Given the description of an element on the screen output the (x, y) to click on. 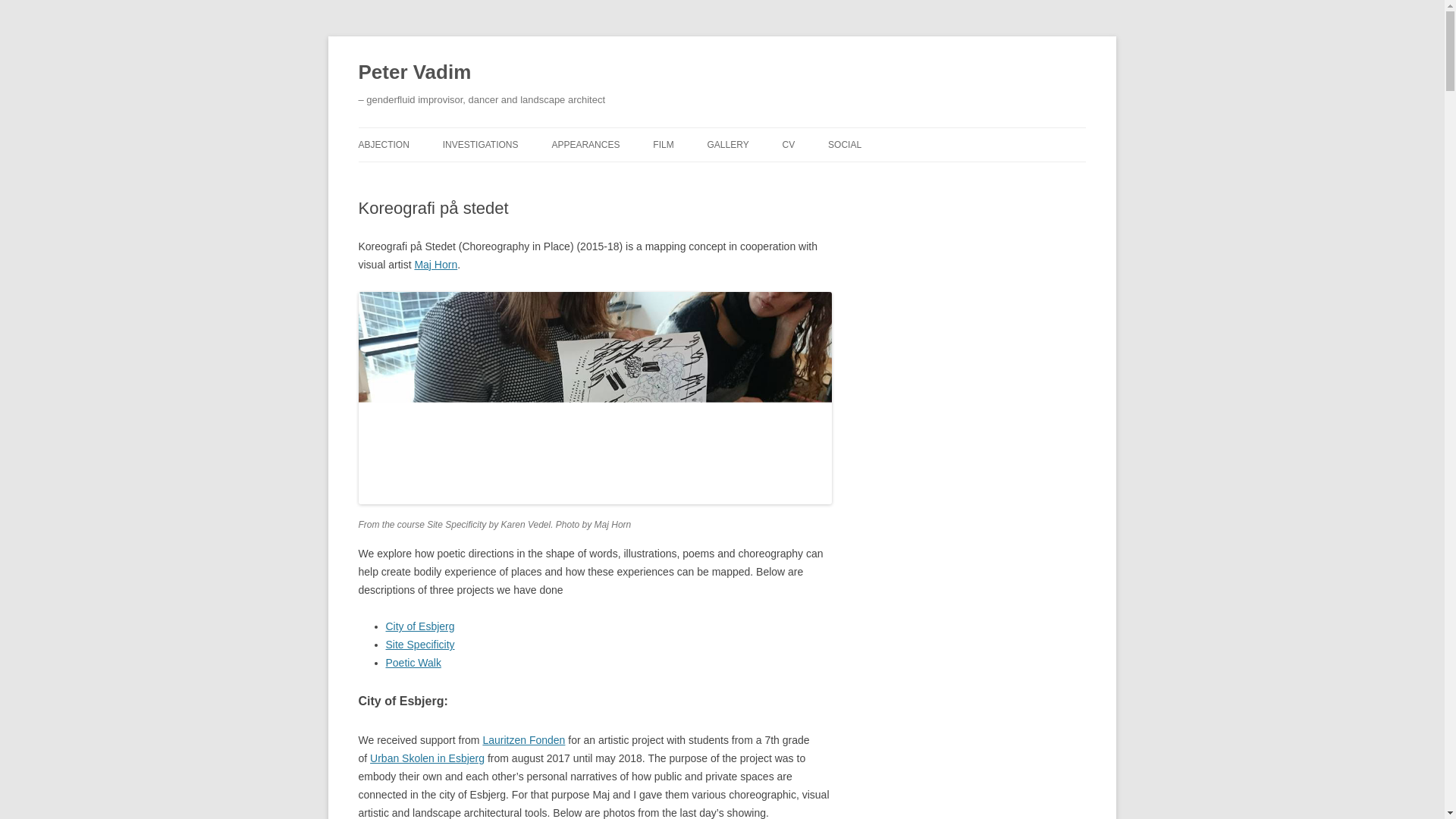
Site Specificity (419, 644)
Peter Vadim (414, 72)
Poetic Walk (413, 662)
Maj Horn (435, 264)
GALLERY (728, 144)
ABJECTION (383, 144)
Urban Skolen in Esbjerg (426, 758)
City of Esbjerg (419, 625)
Lauritzen Fonden (522, 739)
APPEARANCES (585, 144)
INVESTIGATIONS (480, 144)
SOCIAL (844, 144)
